Given the description of an element on the screen output the (x, y) to click on. 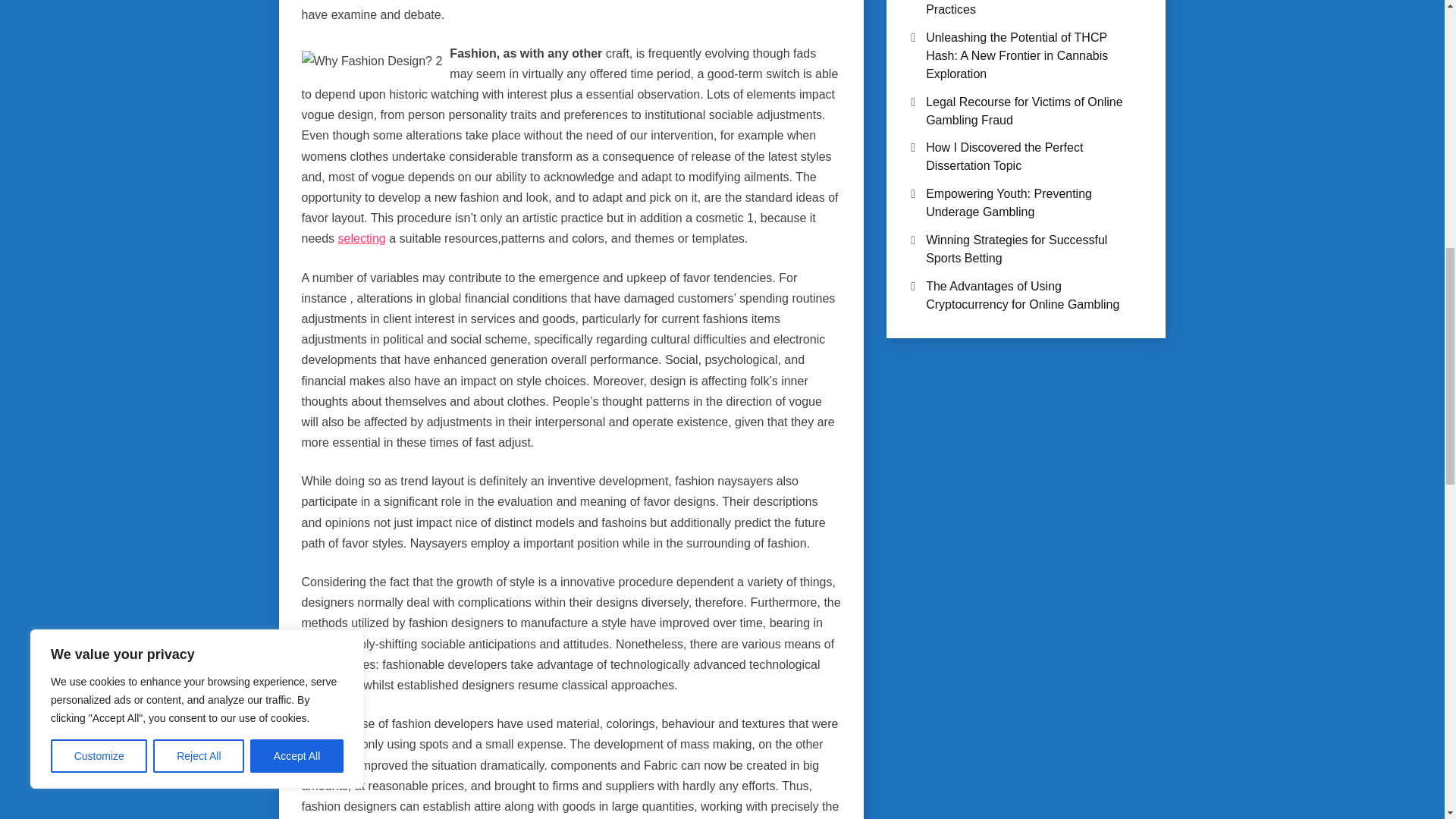
selecting (361, 237)
